Given the description of an element on the screen output the (x, y) to click on. 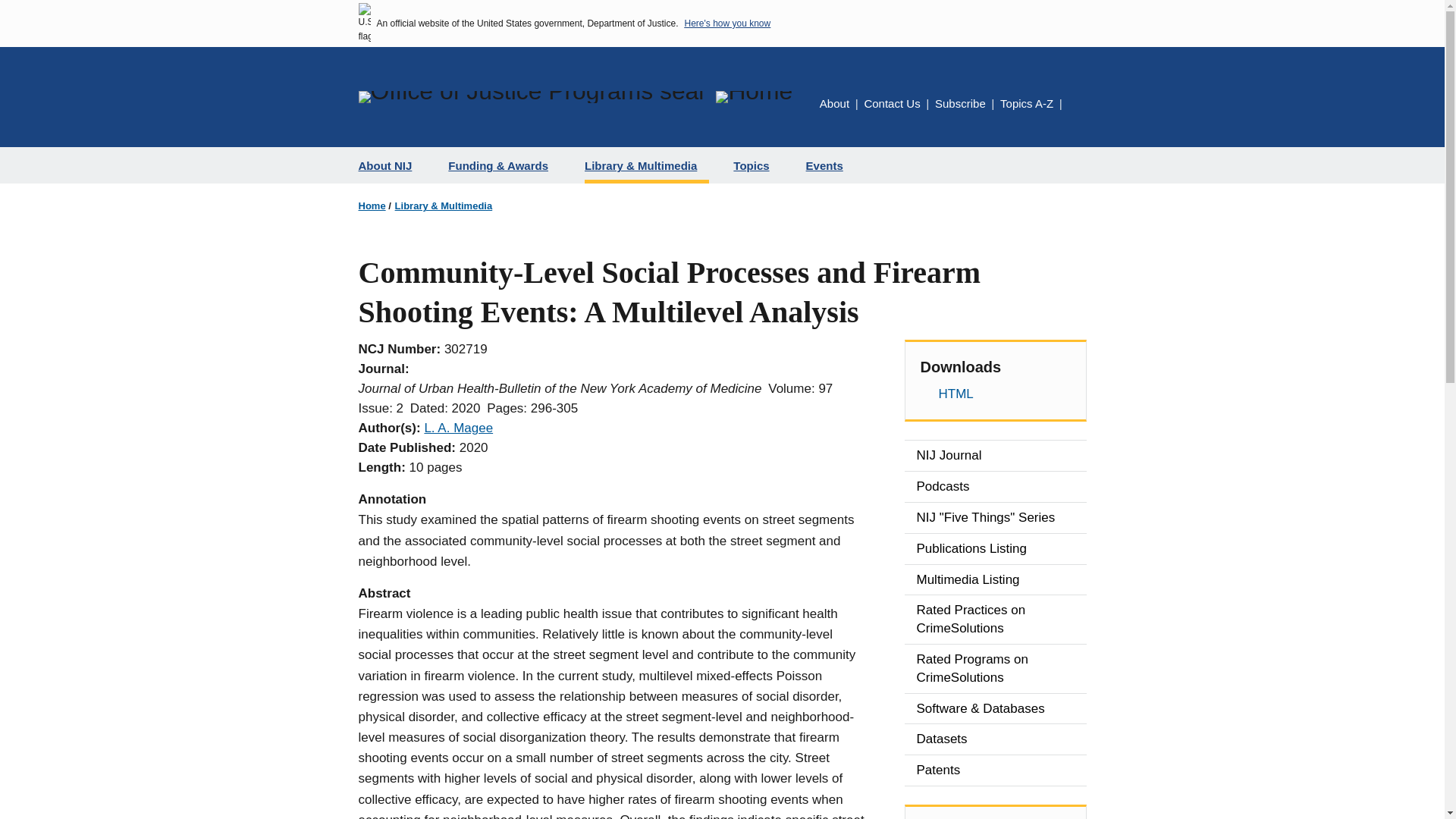
Home (754, 96)
Patents (995, 770)
Rated Programs on CrimeSolutions (995, 668)
L. A. Magee (458, 427)
Home (371, 205)
NIJ Journal (995, 455)
NIJ "Five Things" Series (995, 517)
Office of Justice Programs (530, 96)
Publications Listing (995, 548)
